Given the description of an element on the screen output the (x, y) to click on. 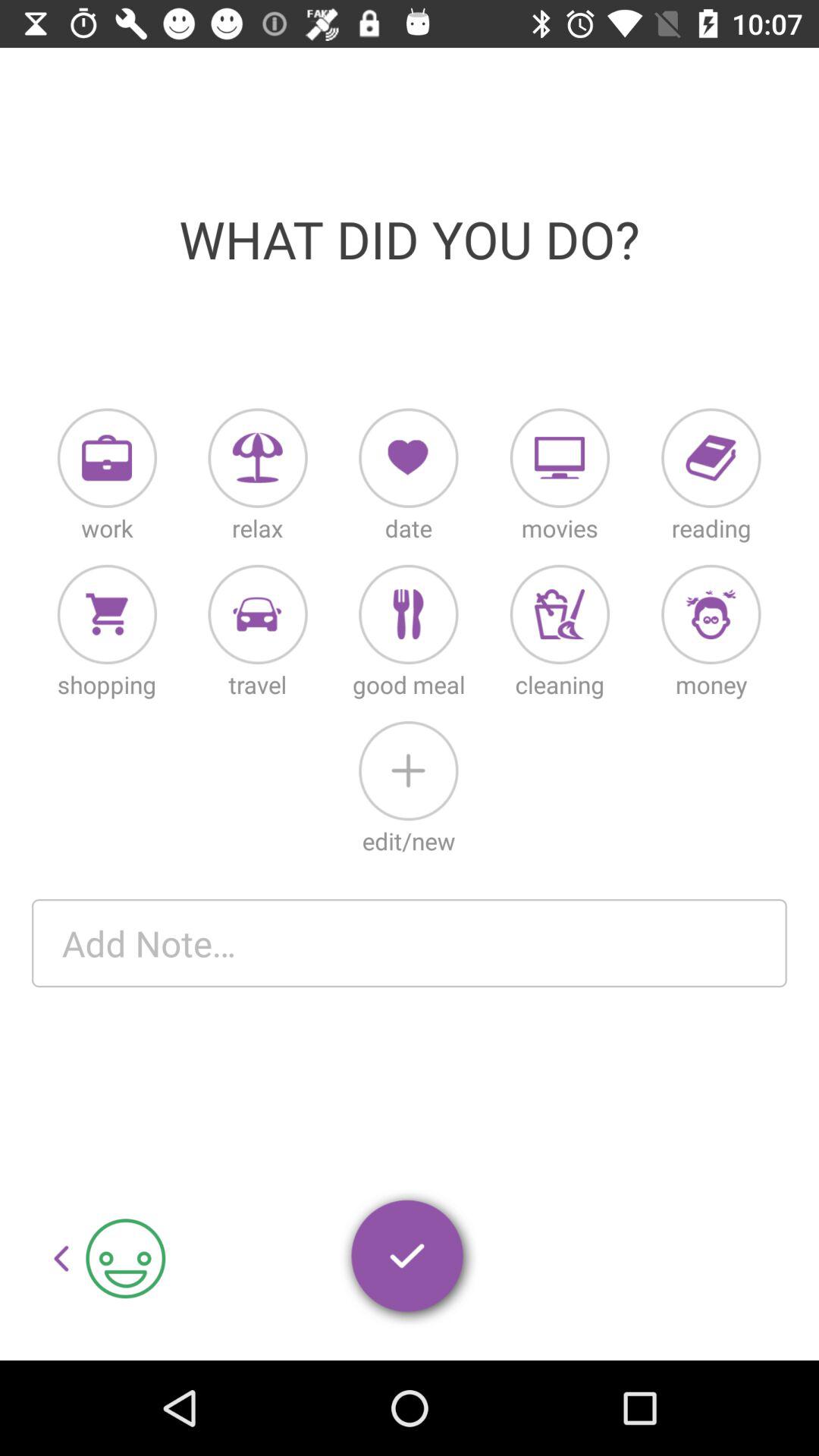
go to the third icon of second row (408, 613)
click on the symbol above editnew (408, 770)
click on the smiley symbol which is to the right of left arrow button (125, 1258)
